Given the description of an element on the screen output the (x, y) to click on. 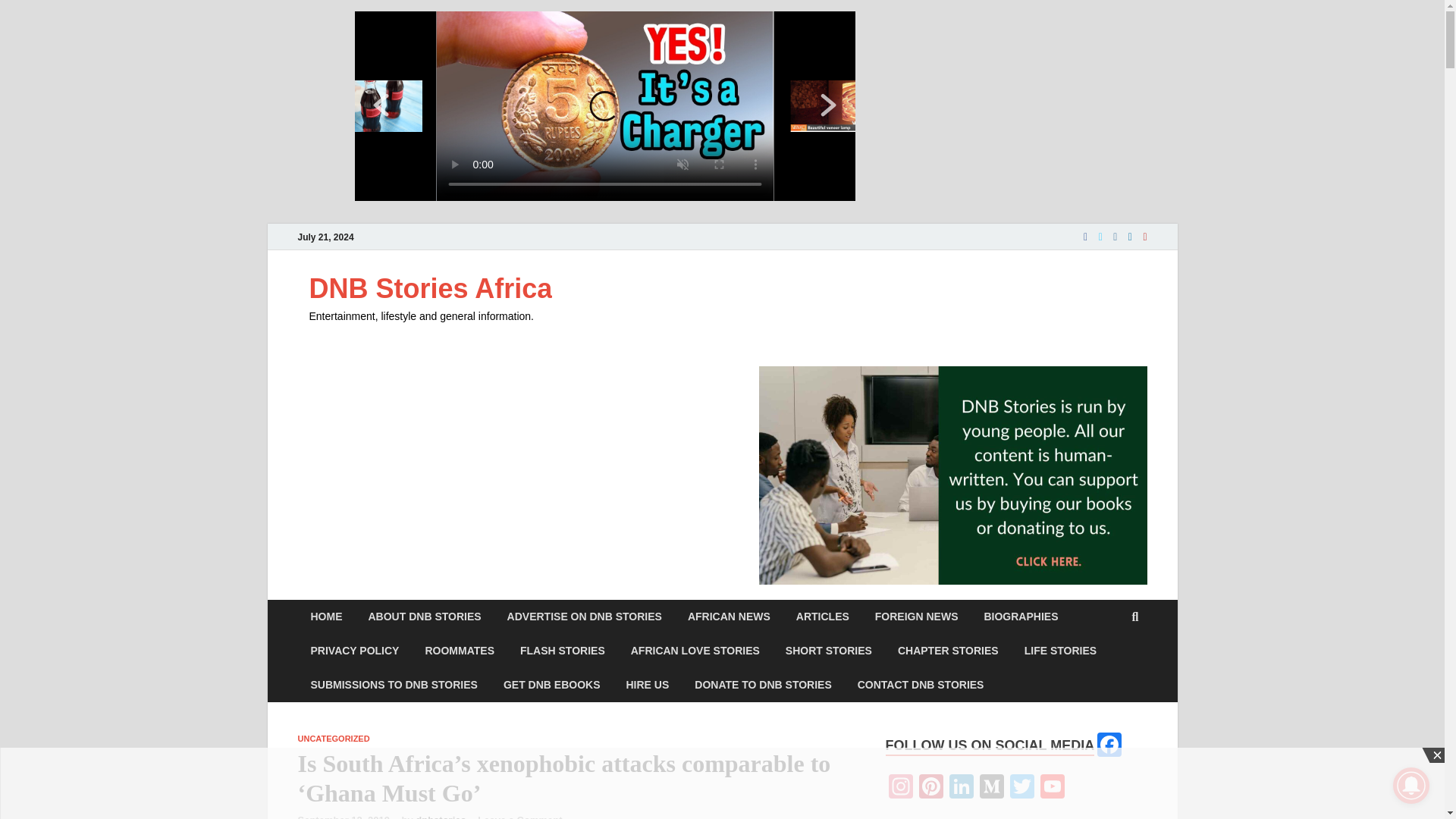
Next (828, 106)
CHAPTER STORIES (948, 650)
FLASH STORIES (561, 650)
AFRICAN NEWS (729, 616)
BIOGRAPHIES (1020, 616)
FOREIGN NEWS (916, 616)
DNB Stories Africa (430, 287)
SHORT STORIES (829, 650)
AFRICAN LOVE STORIES (695, 650)
SUBMISSIONS TO DNB STORIES (393, 684)
ADVERTISE ON DNB STORIES (585, 616)
ABOUT DNB STORIES (424, 616)
ROOMMATES (459, 650)
ARTICLES (822, 616)
LIFE STORIES (1060, 650)
